Given the description of an element on the screen output the (x, y) to click on. 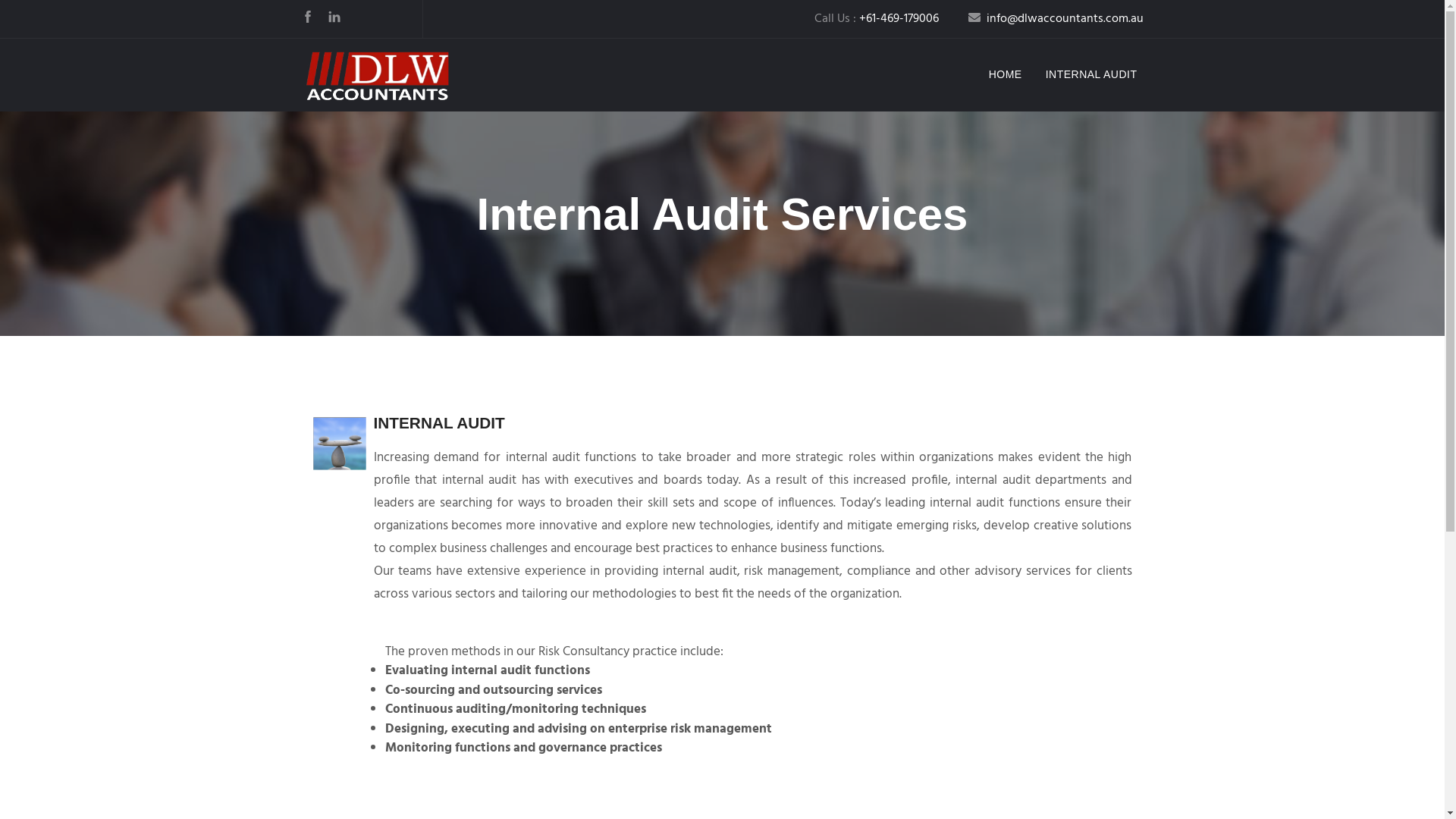
HOME
(CURRENT) Element type: text (1005, 74)
Call Us : +61-469-179006 Element type: text (876, 18)
info@dlwaccountants.com.au Element type: text (1054, 18)
INTERNAL AUDIT Element type: text (1091, 74)
